Given the description of an element on the screen output the (x, y) to click on. 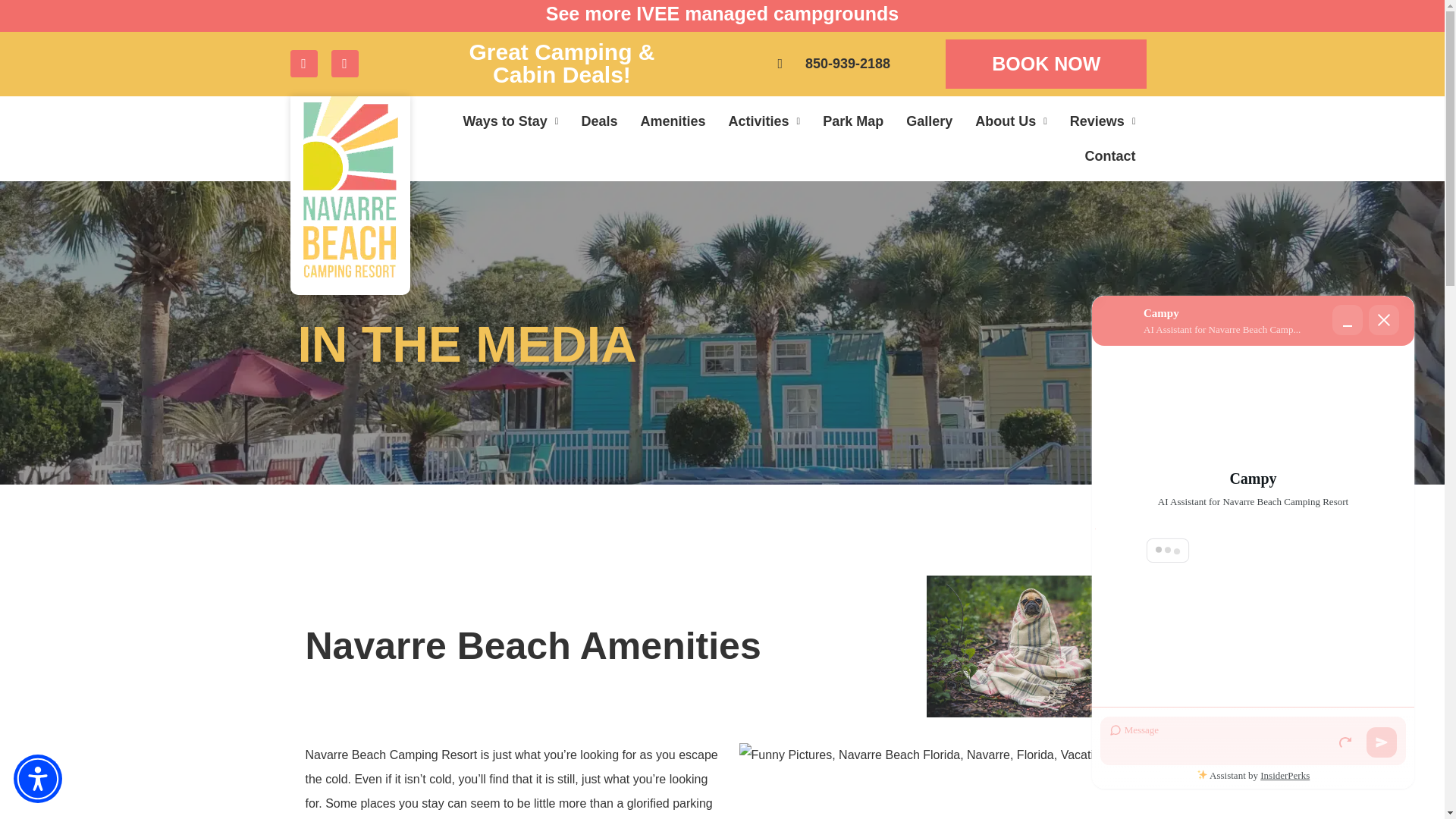
850-939-2188 (831, 64)
Accessibility Menu (37, 778)
Gallery (929, 121)
Reviews (1102, 121)
See more IVEE managed campgrounds (722, 13)
Ways to Stay (510, 121)
BOOK NOW (1045, 63)
Contact (1110, 155)
Activities (763, 121)
Amenities (672, 121)
Park Map (852, 121)
About Us (1010, 121)
Deals (598, 121)
